Given the description of an element on the screen output the (x, y) to click on. 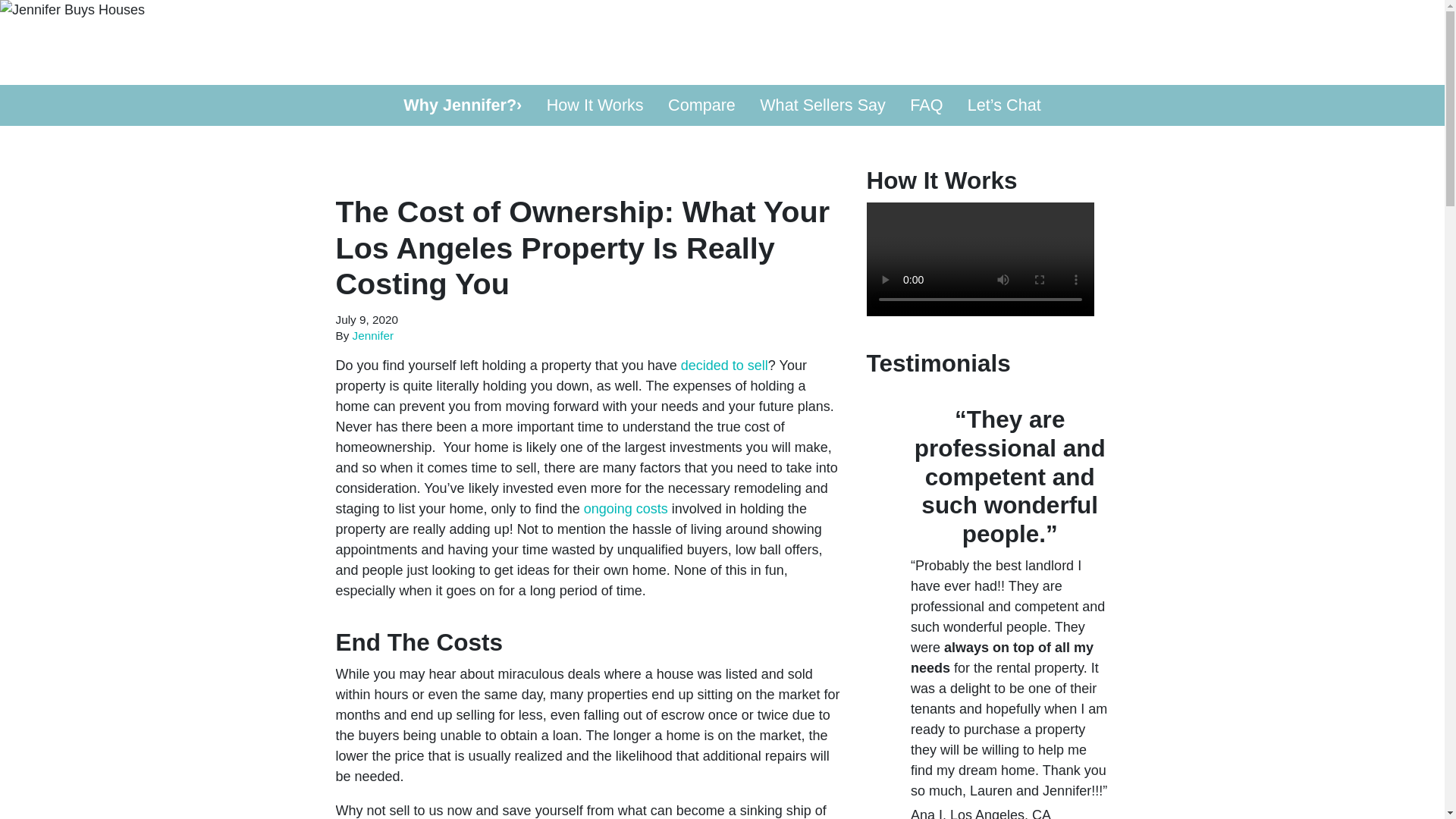
Compare (702, 105)
YOUTUBE (1022, 75)
FACEBOOK (1000, 75)
How It Works (594, 105)
Jennifer (372, 335)
What Sellers Say (823, 105)
ABOUT JENNIFER (1061, 47)
FAQ (926, 105)
What Sellers Say (823, 105)
Compare (702, 105)
